Given the description of an element on the screen output the (x, y) to click on. 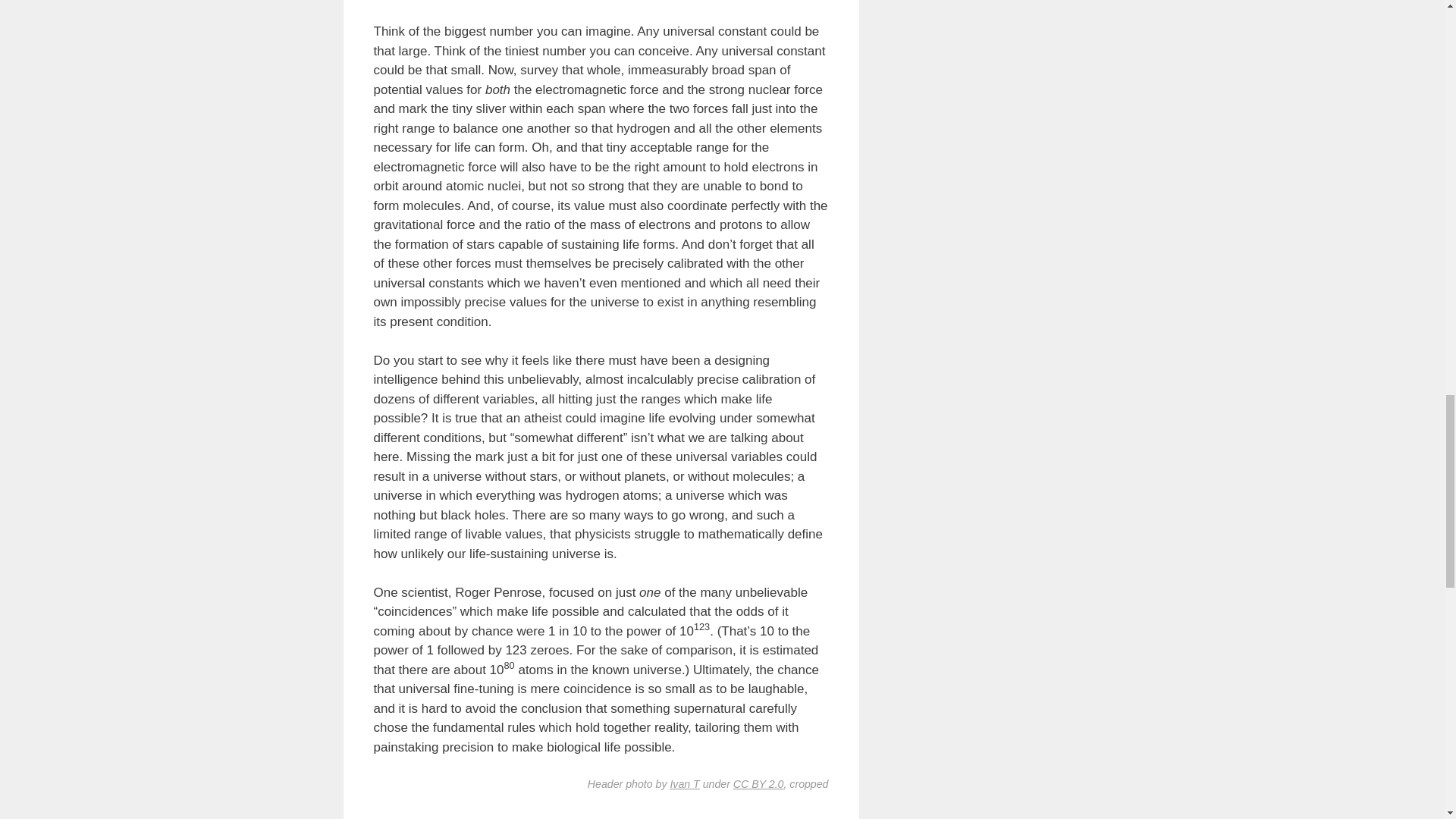
Ivan T (683, 784)
CC BY 2.0 (758, 784)
